Given the description of an element on the screen output the (x, y) to click on. 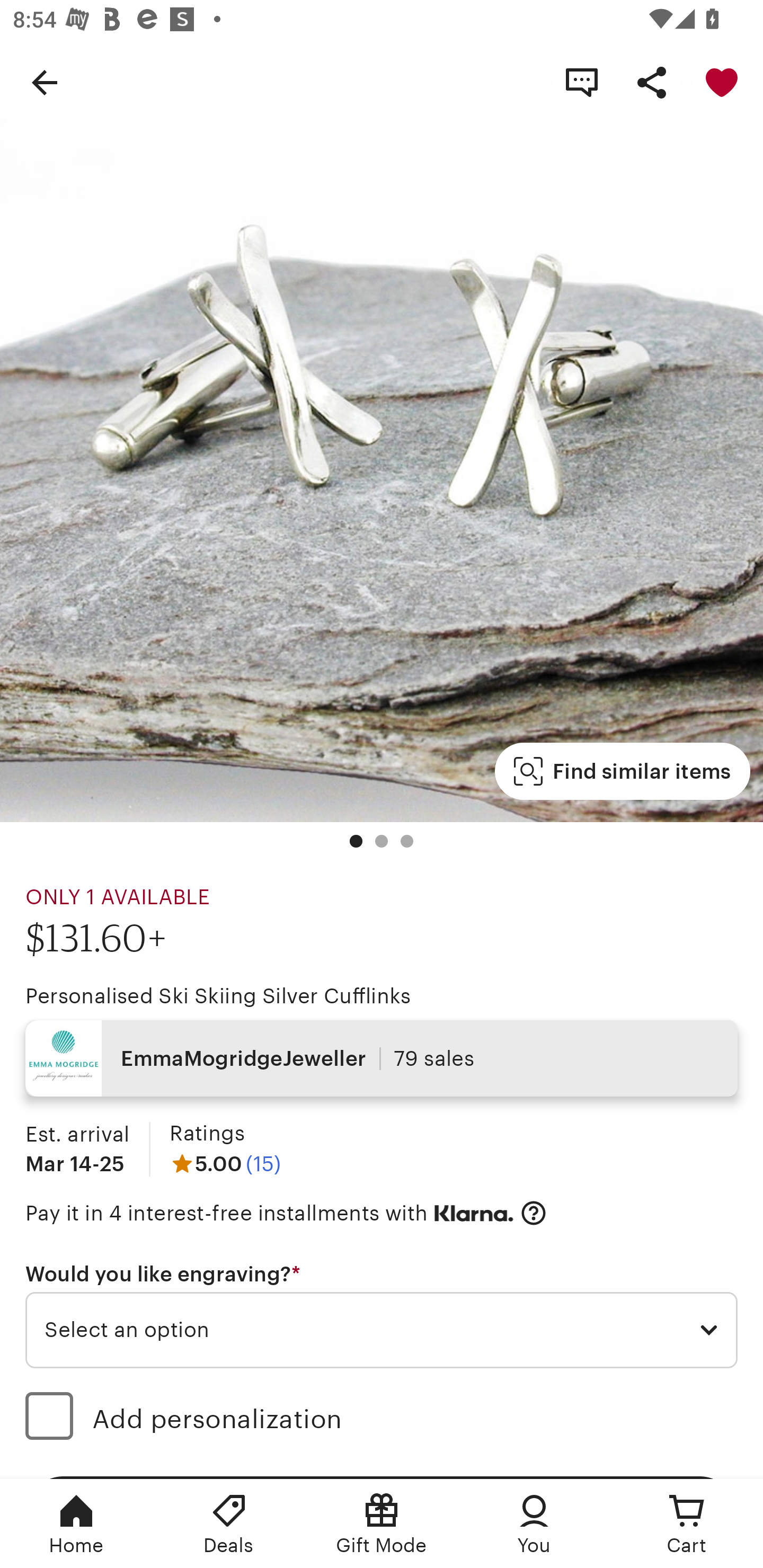
Navigate up (44, 81)
Contact shop (581, 81)
Share (651, 81)
Find similar items (622, 771)
Personalised Ski Skiing Silver Cufflinks (218, 996)
EmmaMogridgeJeweller 79 sales (381, 1058)
Ratings (206, 1133)
5.00 (15) (225, 1163)
Select an option (381, 1330)
Add personalization (optional) Add personalization (381, 1418)
Deals (228, 1523)
Gift Mode (381, 1523)
You (533, 1523)
Cart (686, 1523)
